Given the description of an element on the screen output the (x, y) to click on. 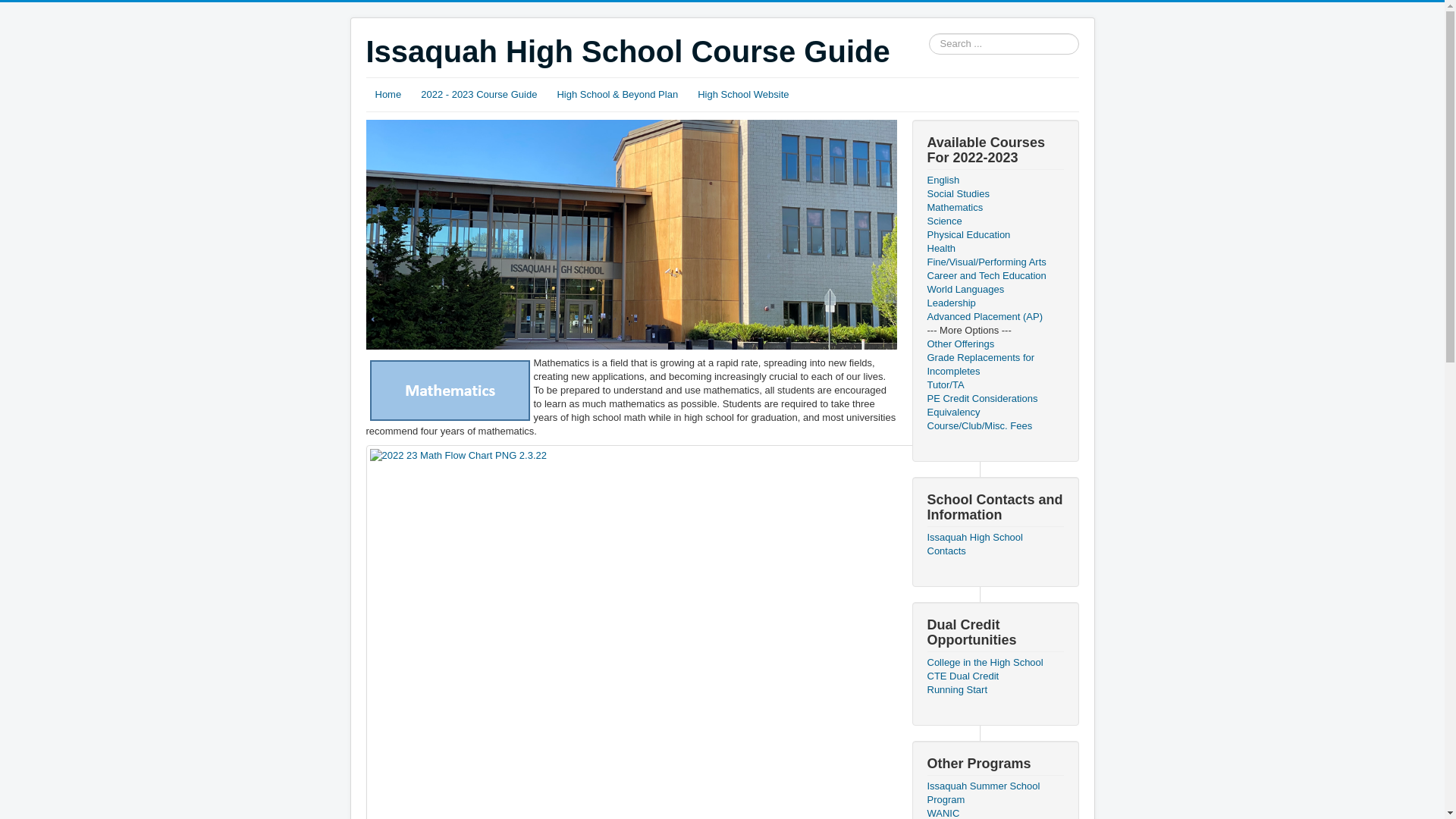
English (994, 180)
Home (387, 94)
High School Website (742, 94)
Issaquah High School Course Guide (627, 51)
2022 - 2023 Course Guide (479, 94)
Issaquah High School Course Guide (627, 51)
